Given the description of an element on the screen output the (x, y) to click on. 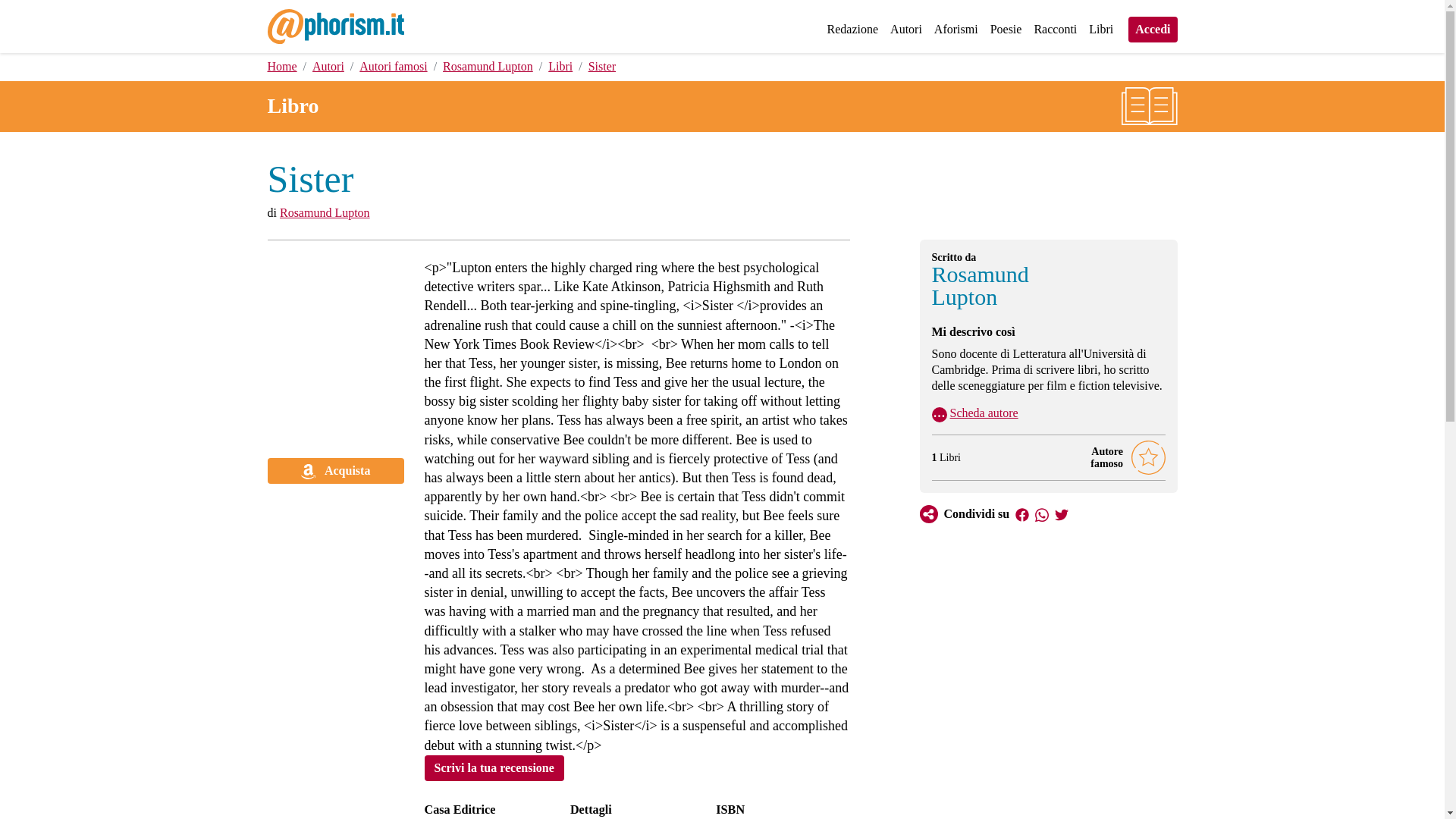
Rosamund Lupton (487, 65)
Racconti (1055, 29)
Accedi (1152, 29)
Home (281, 65)
Aforismi (956, 29)
Twitter (1061, 513)
Autori famosi (392, 65)
Whatsapp (1041, 513)
Aphorism.it (334, 24)
Scrivi la tua recensione (494, 768)
